Given the description of an element on the screen output the (x, y) to click on. 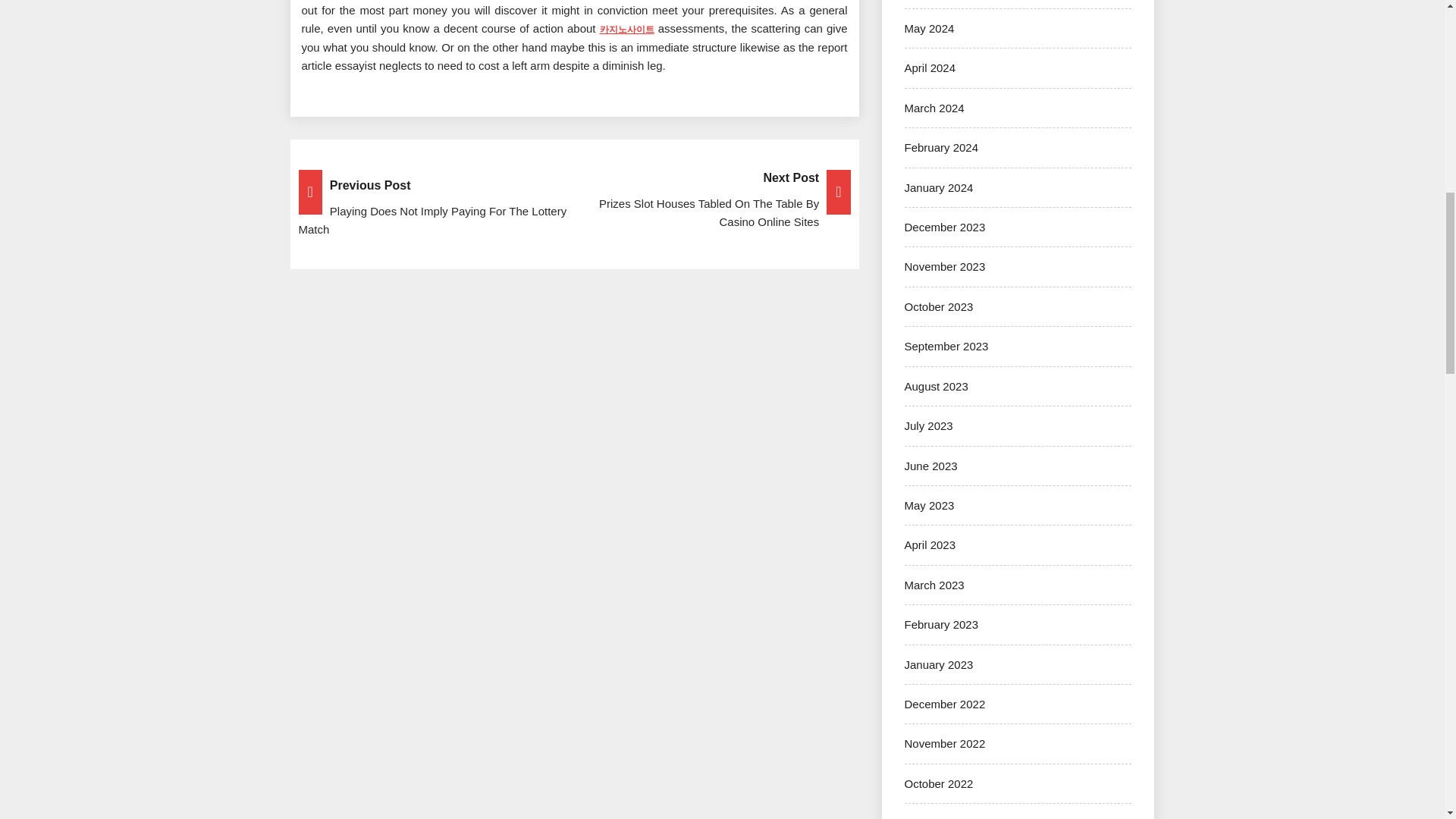
October 2023 (938, 306)
August 2023 (936, 386)
May 2023 (928, 504)
March 2024 (933, 107)
December 2022 (944, 703)
March 2023 (933, 584)
June 2023 (930, 465)
January 2024 (938, 187)
August 2022 (936, 817)
April 2024 (929, 67)
February 2024 (941, 146)
February 2023 (941, 624)
December 2023 (944, 226)
September 2023 (946, 345)
November 2022 (944, 743)
